Given the description of an element on the screen output the (x, y) to click on. 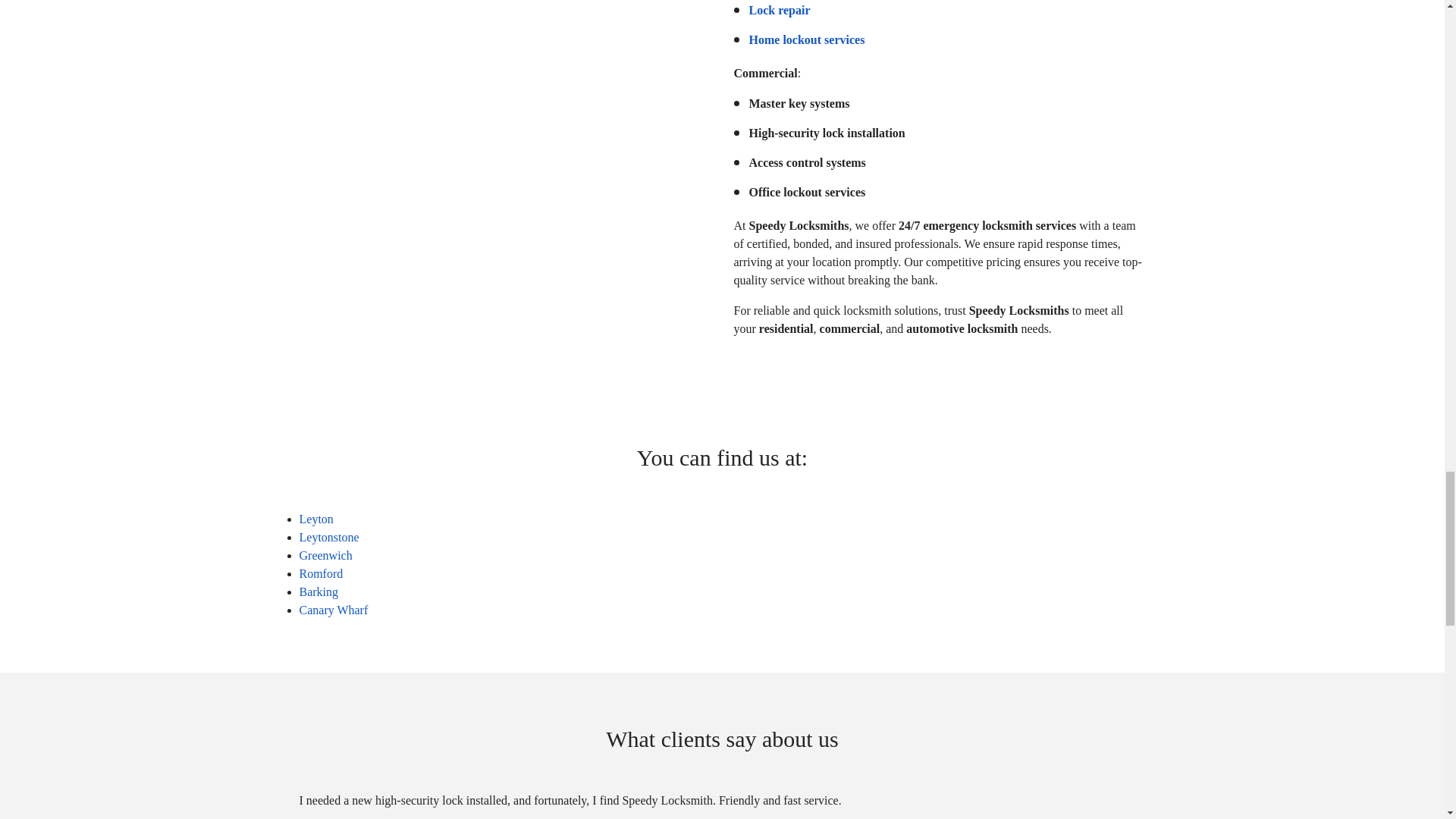
Leytonstone (328, 536)
Romford (320, 573)
Barking (317, 591)
Romford (320, 573)
Greenwich (325, 554)
Leytonstone (328, 536)
Barking (317, 591)
Leyton (315, 518)
Home lockout services (806, 39)
Greenwich (325, 554)
